Given the description of an element on the screen output the (x, y) to click on. 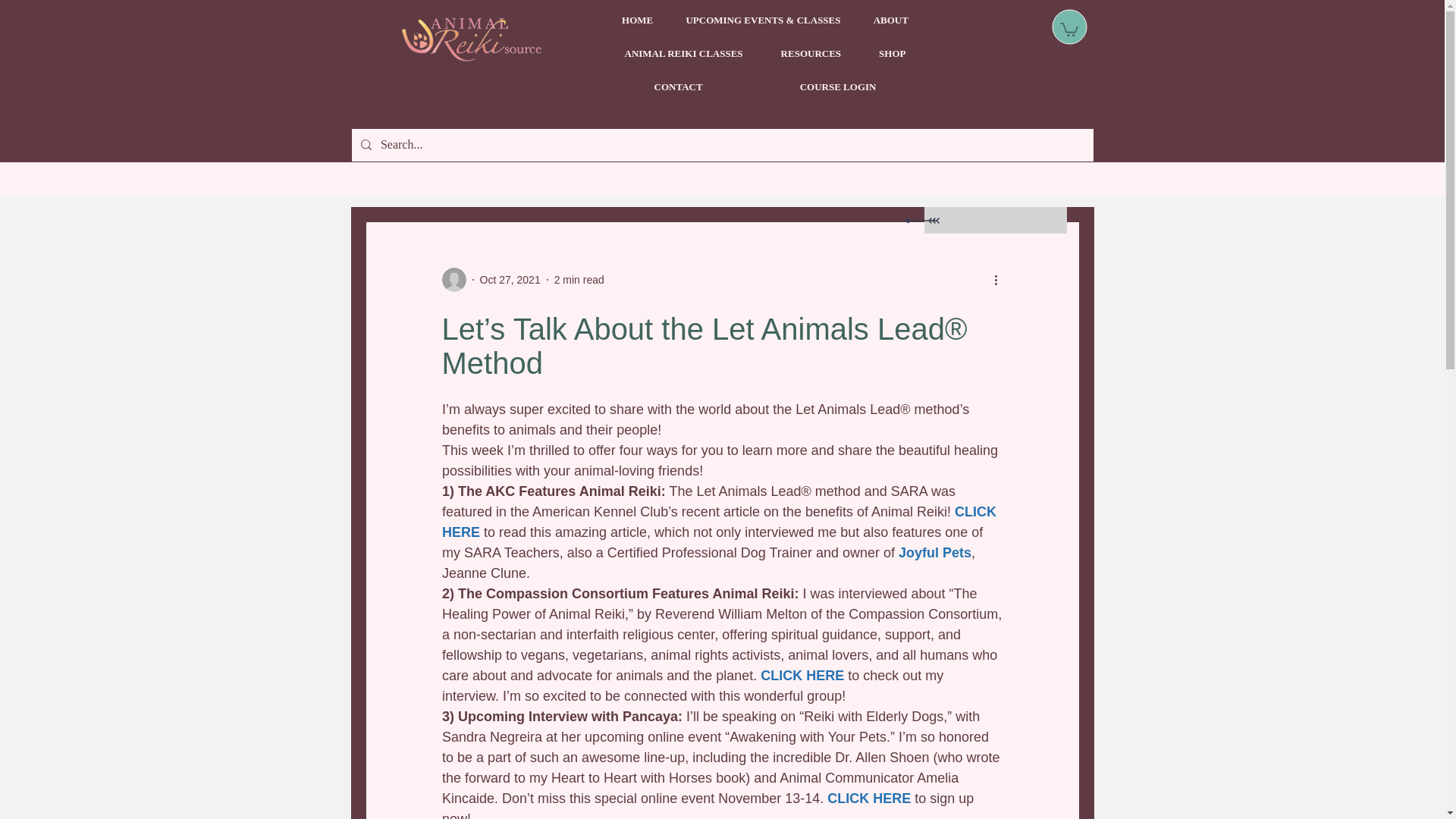
CONTACT (678, 86)
CLICK HERE (869, 798)
COURSE LOGIN (837, 86)
Joyful Pets (934, 552)
HOME (636, 20)
2 min read (579, 278)
CLICK HERE (719, 521)
CLICK HERE (802, 675)
Oct 27, 2021 (509, 278)
